Given the description of an element on the screen output the (x, y) to click on. 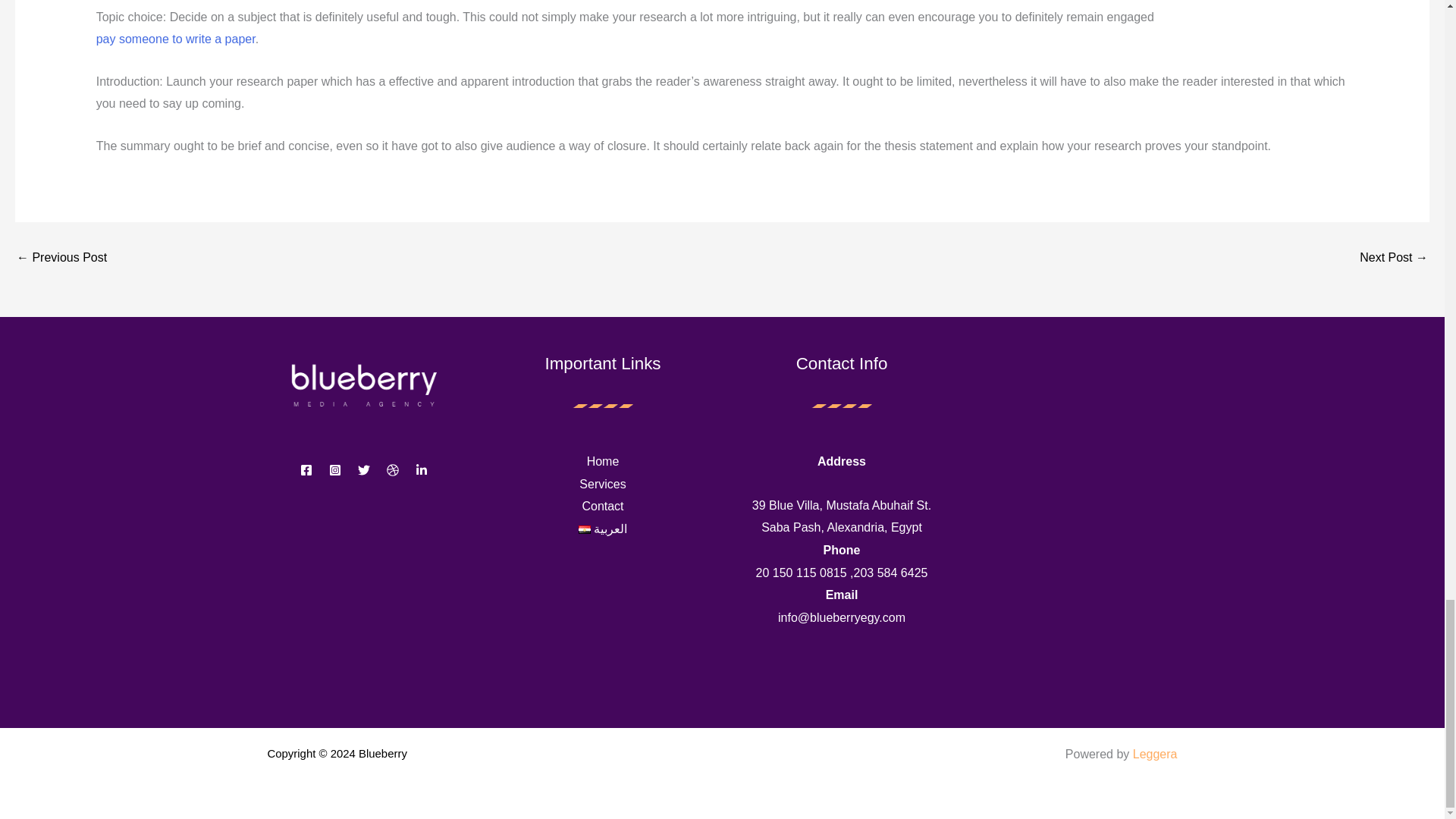
Leggera (1154, 753)
Home (603, 461)
Contact (601, 505)
Top five International Online dating sites (61, 257)
Services (602, 483)
pay someone to write a paper (176, 38)
